Given the description of an element on the screen output the (x, y) to click on. 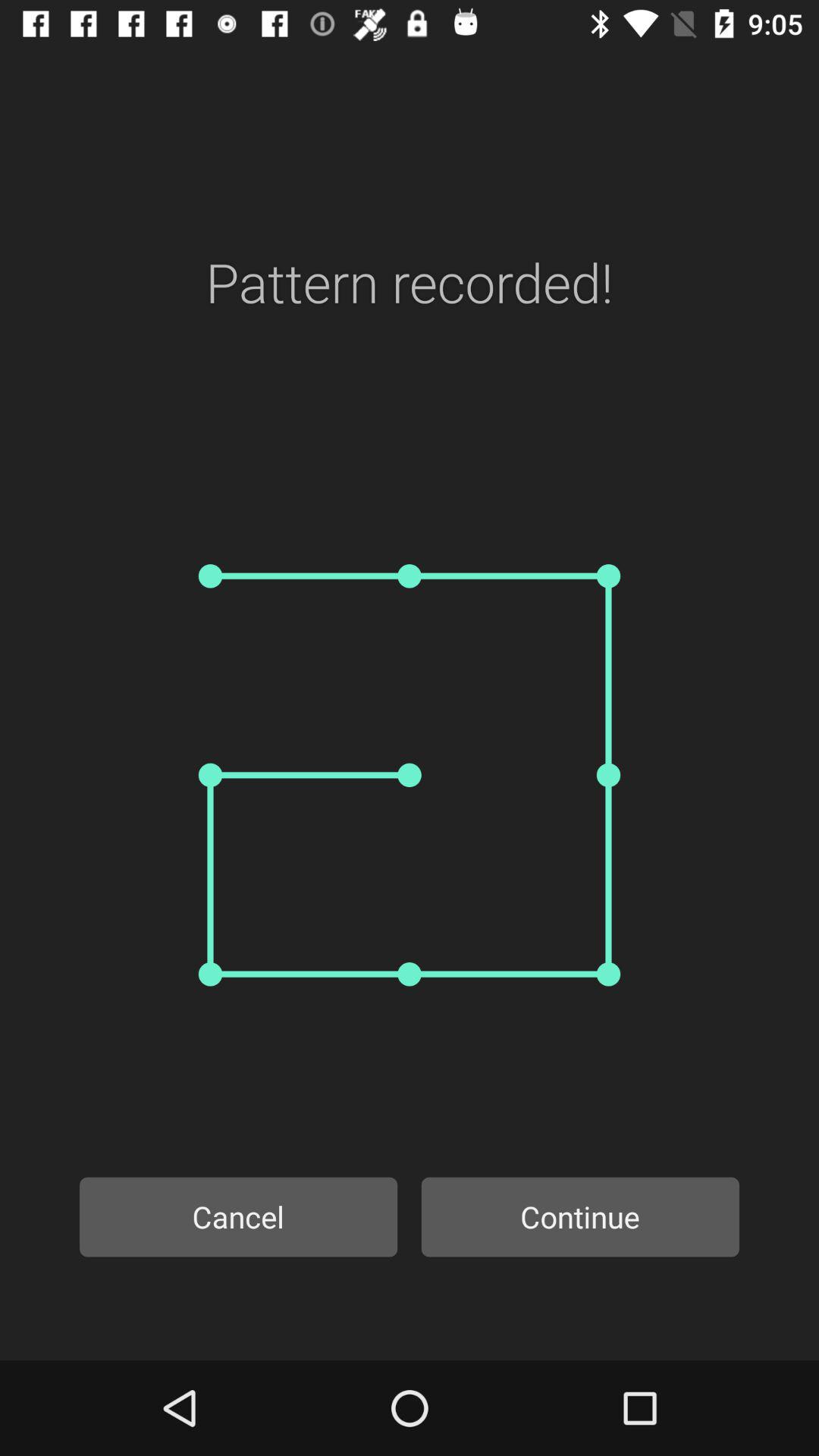
turn off the item at the center (409, 774)
